Given the description of an element on the screen output the (x, y) to click on. 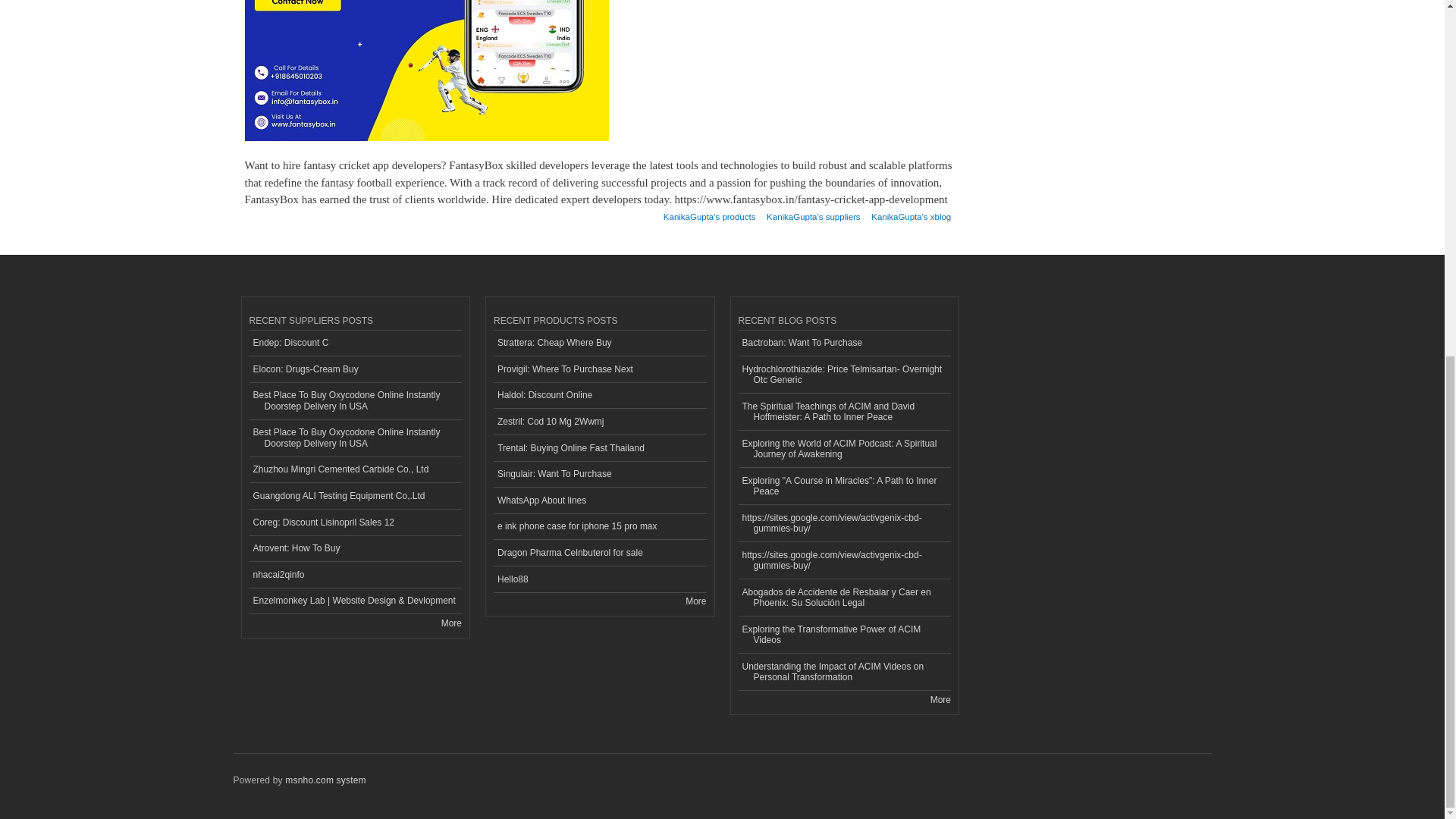
Read the latest products entries. (695, 601)
KanikaGupta's xblog (910, 212)
Read KanikaGupta's latest products entries. (709, 212)
KanikaGupta's products (709, 212)
Guangdong ALI Testing Equipment Co,.Ltd (354, 496)
Zhuzhou Mingri Cemented Carbide Co., Ltd (354, 470)
Endep: Discount C (354, 343)
Elocon: Drugs-Cream Buy (354, 369)
Read the latest suppliers entries. (451, 623)
KanikaGupta's suppliers (813, 212)
Read KanikaGupta's latest suppliers entries. (813, 212)
Read KanikaGupta's latest xblog entries. (910, 212)
Read the latest blog entries. (940, 699)
